Given the description of an element on the screen output the (x, y) to click on. 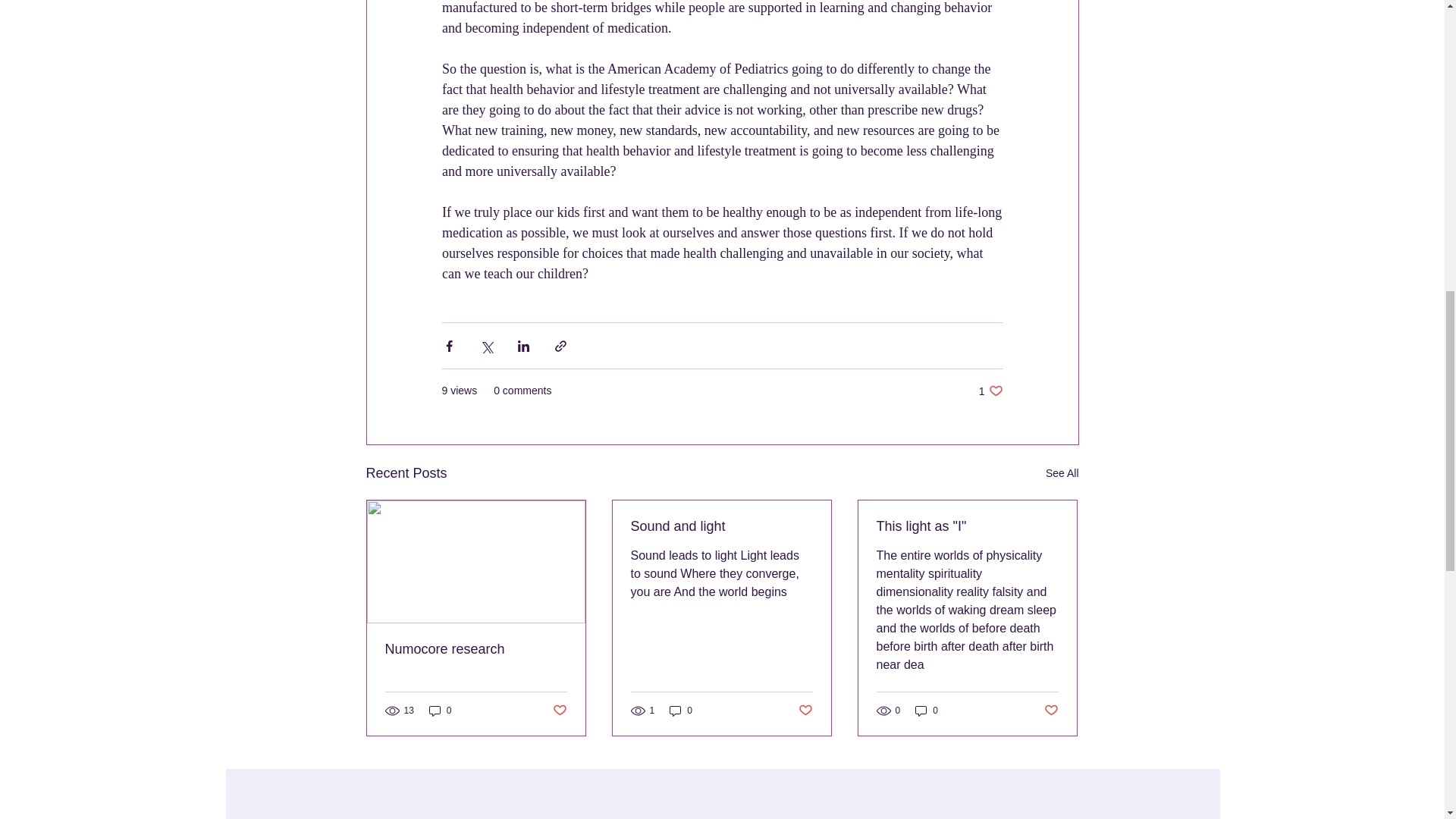
Sound and light (721, 526)
0 (990, 391)
0 (440, 710)
Numocore research (926, 710)
0 (476, 649)
Post not marked as liked (681, 710)
This light as "I" (804, 709)
See All (967, 526)
Post not marked as liked (1061, 473)
